Given the description of an element on the screen output the (x, y) to click on. 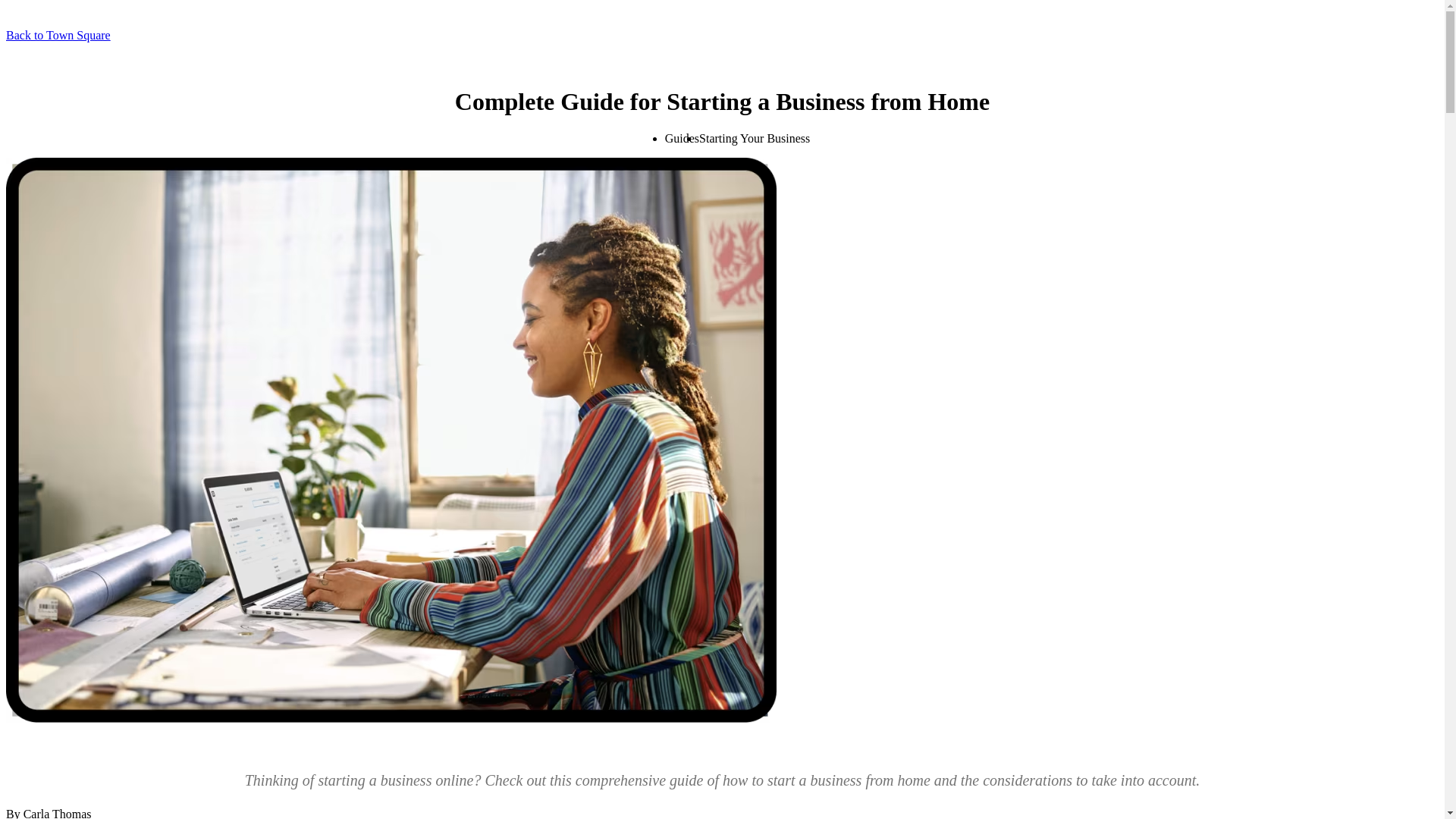
Guides (681, 137)
Starting Your Business (753, 137)
Back to Town Square (57, 34)
Carla Thomas (57, 813)
